Given the description of an element on the screen output the (x, y) to click on. 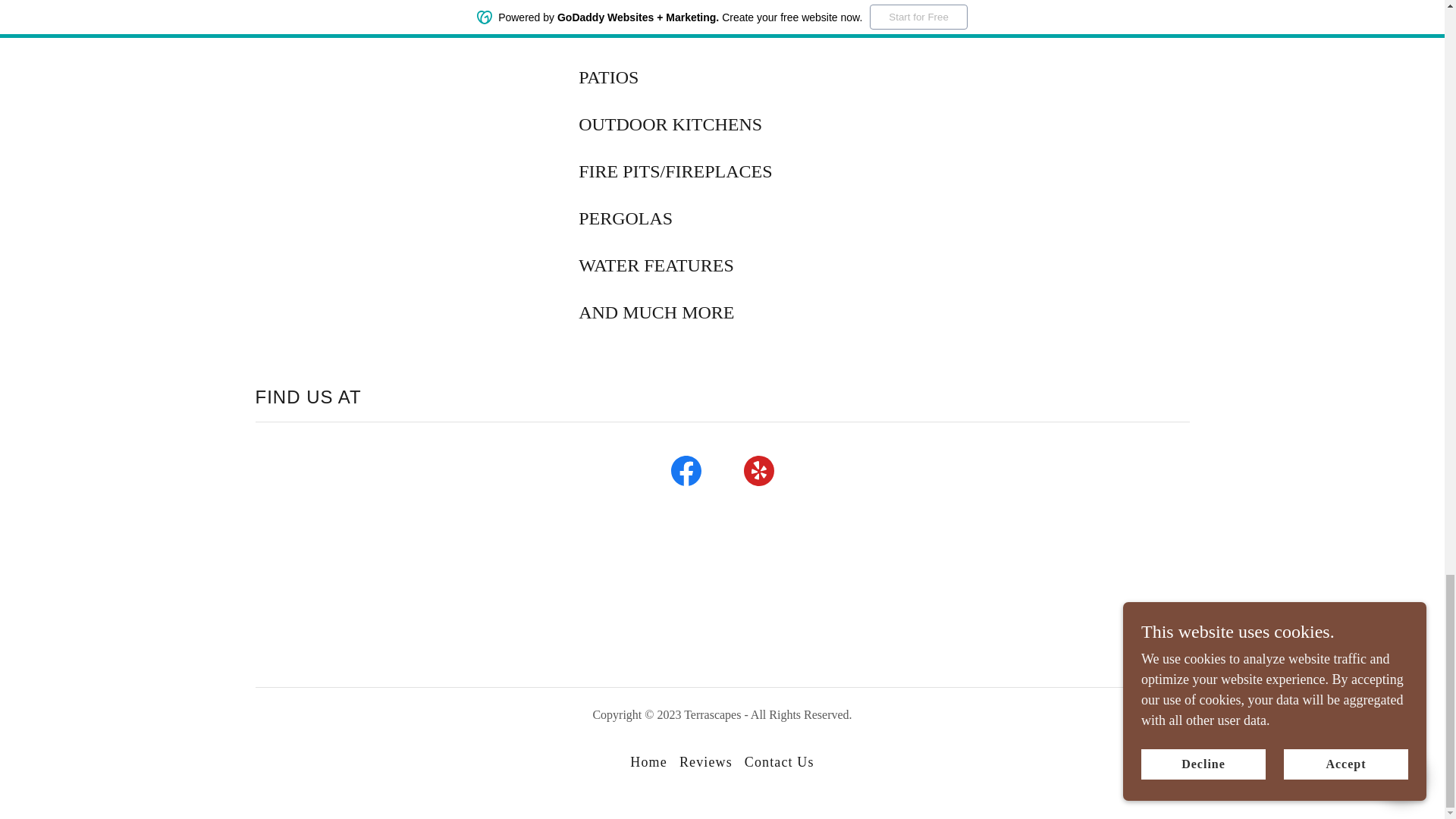
Contact Us (779, 762)
Reviews (705, 762)
Home (648, 762)
